Given the description of an element on the screen output the (x, y) to click on. 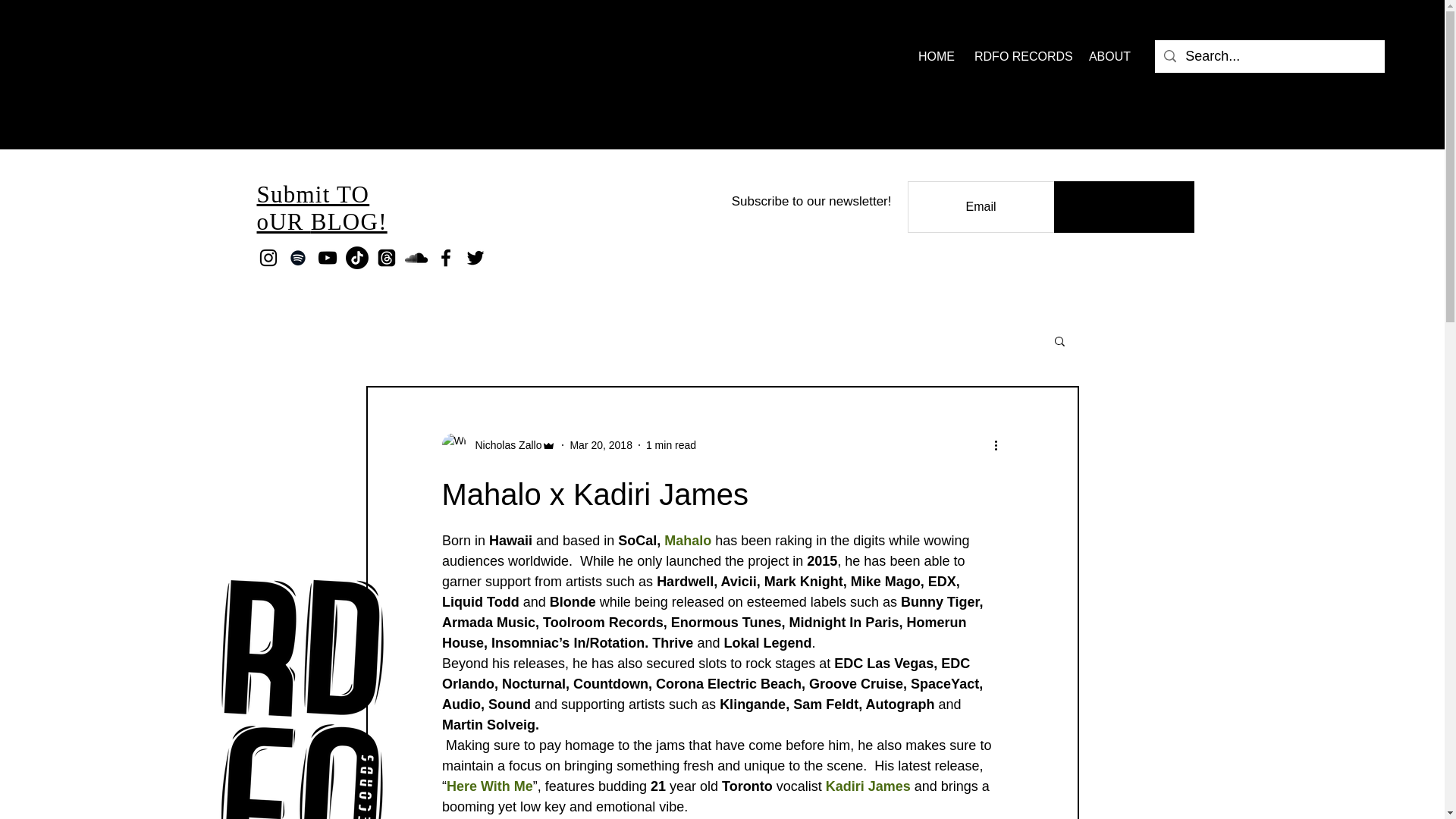
RDFO RECORDS (1019, 56)
Mar 20, 2018 (600, 444)
Submit TO oUR BLOG! (321, 207)
HOME (934, 56)
Nicholas  Zallo (503, 444)
ABOUT (1109, 56)
Kadiri James (867, 785)
Here With Me (488, 785)
Subscribe (1123, 206)
Mahalo (687, 540)
